Given the description of an element on the screen output the (x, y) to click on. 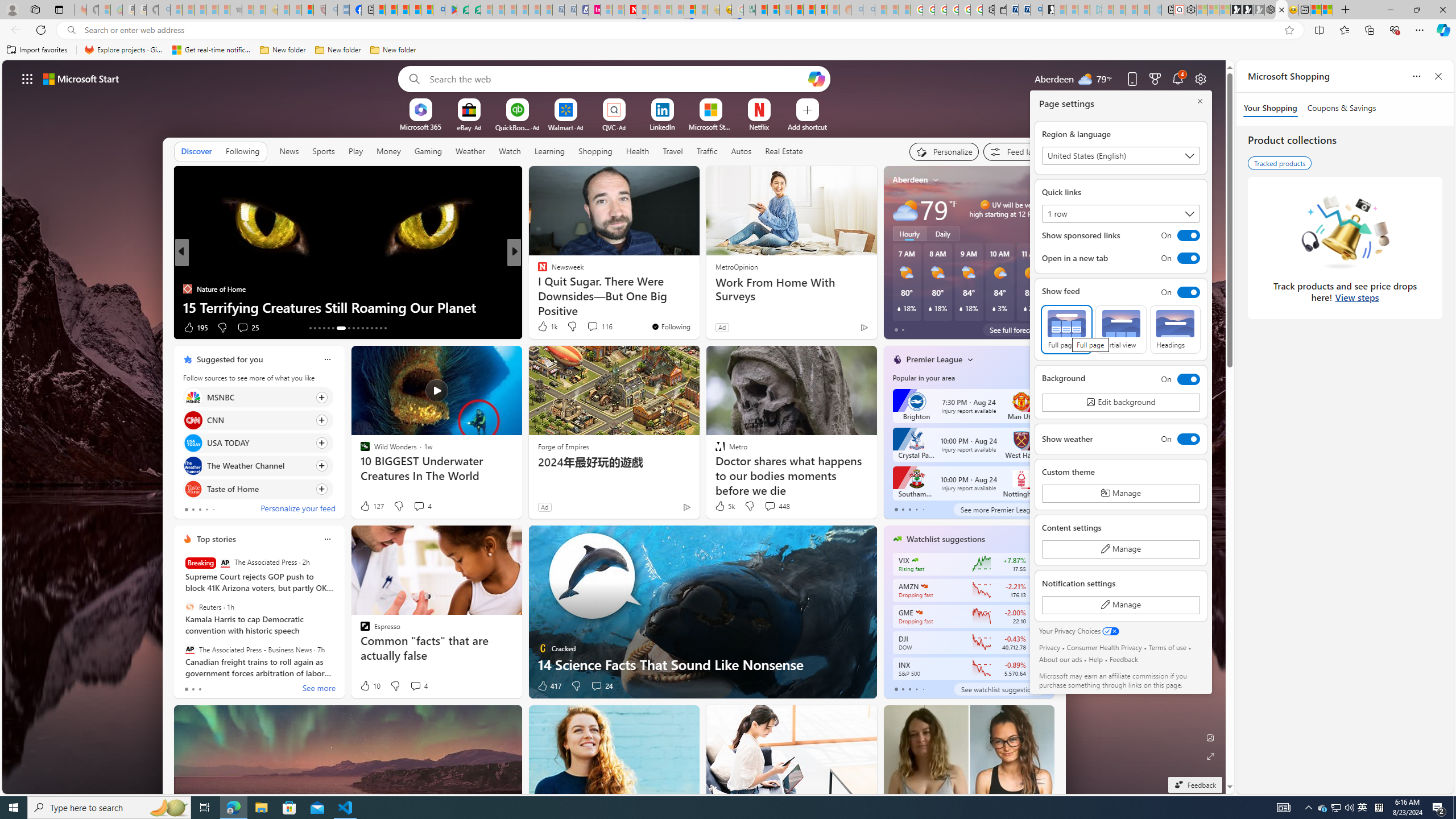
Click to follow source USA TODAY (257, 442)
Nature of Home (187, 288)
Forge of Empires (563, 446)
AutomationID: tab-20 (348, 328)
Recipes - MSN - Sleeping (283, 9)
tab-3 (916, 689)
google - Search (438, 9)
Personalize your feed" (943, 151)
USA TODAY (192, 443)
